Given the description of an element on the screen output the (x, y) to click on. 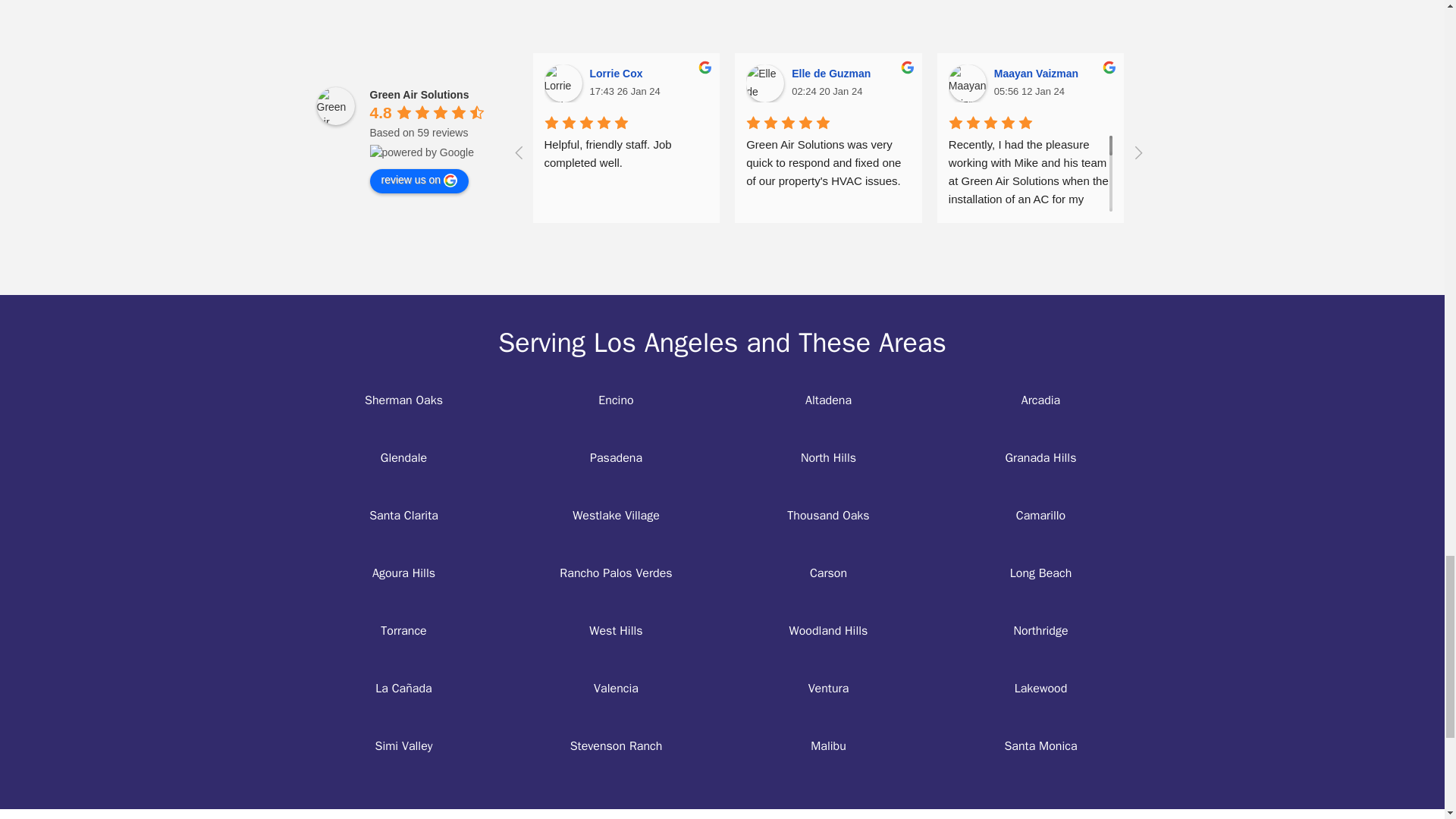
Elle de Guzman (764, 83)
Lorrie Cox (563, 83)
Kate Wilber (1371, 83)
Green Air Solutions (336, 105)
powered by Google (421, 151)
Chris (1169, 83)
Maayan Vaizman (968, 83)
